Given the description of an element on the screen output the (x, y) to click on. 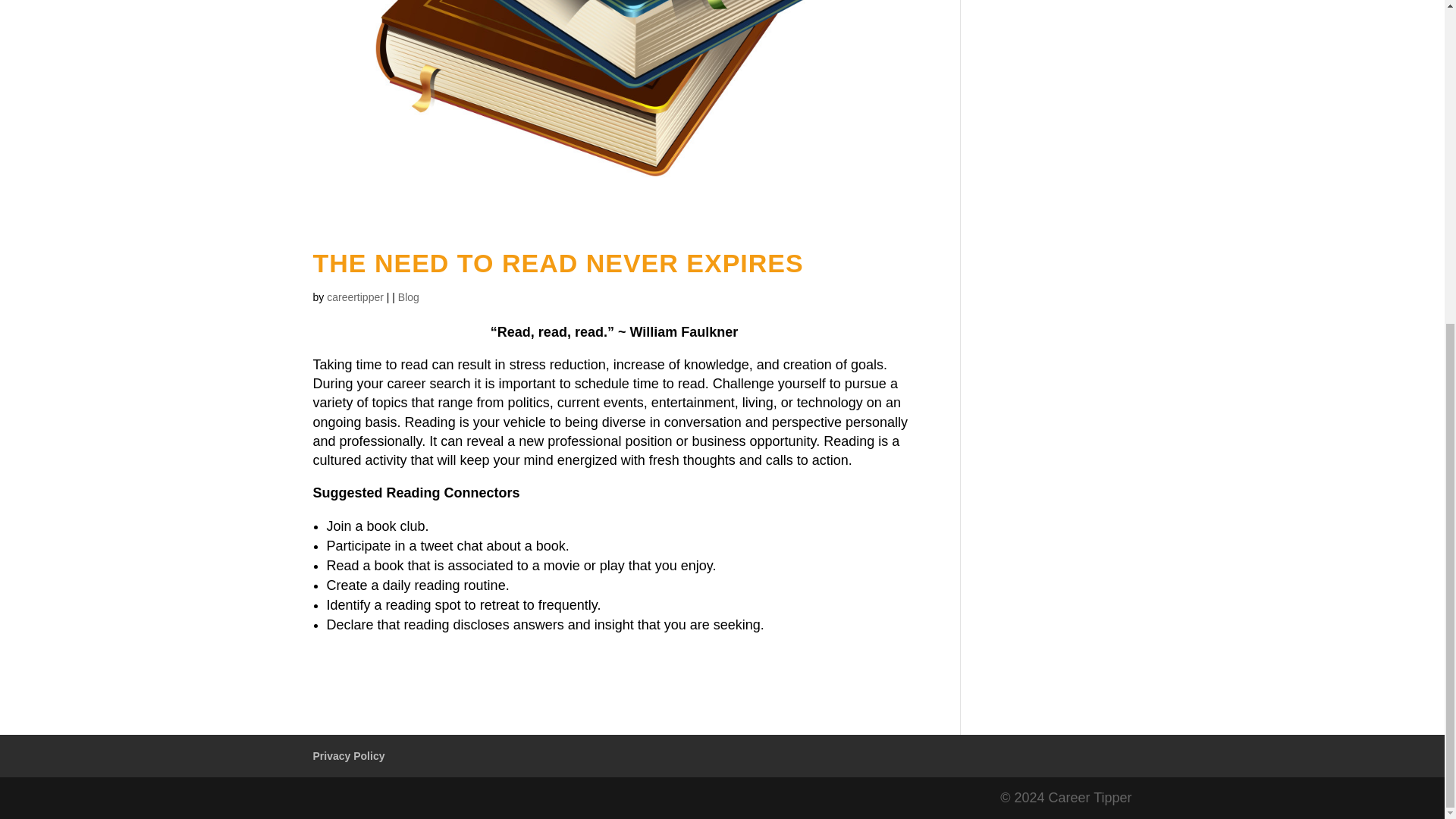
THE NEED TO READ NEVER EXPIRES (558, 262)
Privacy Policy (348, 756)
Posts by careertipper (355, 297)
careertipper (355, 297)
Blog (408, 297)
